Given the description of an element on the screen output the (x, y) to click on. 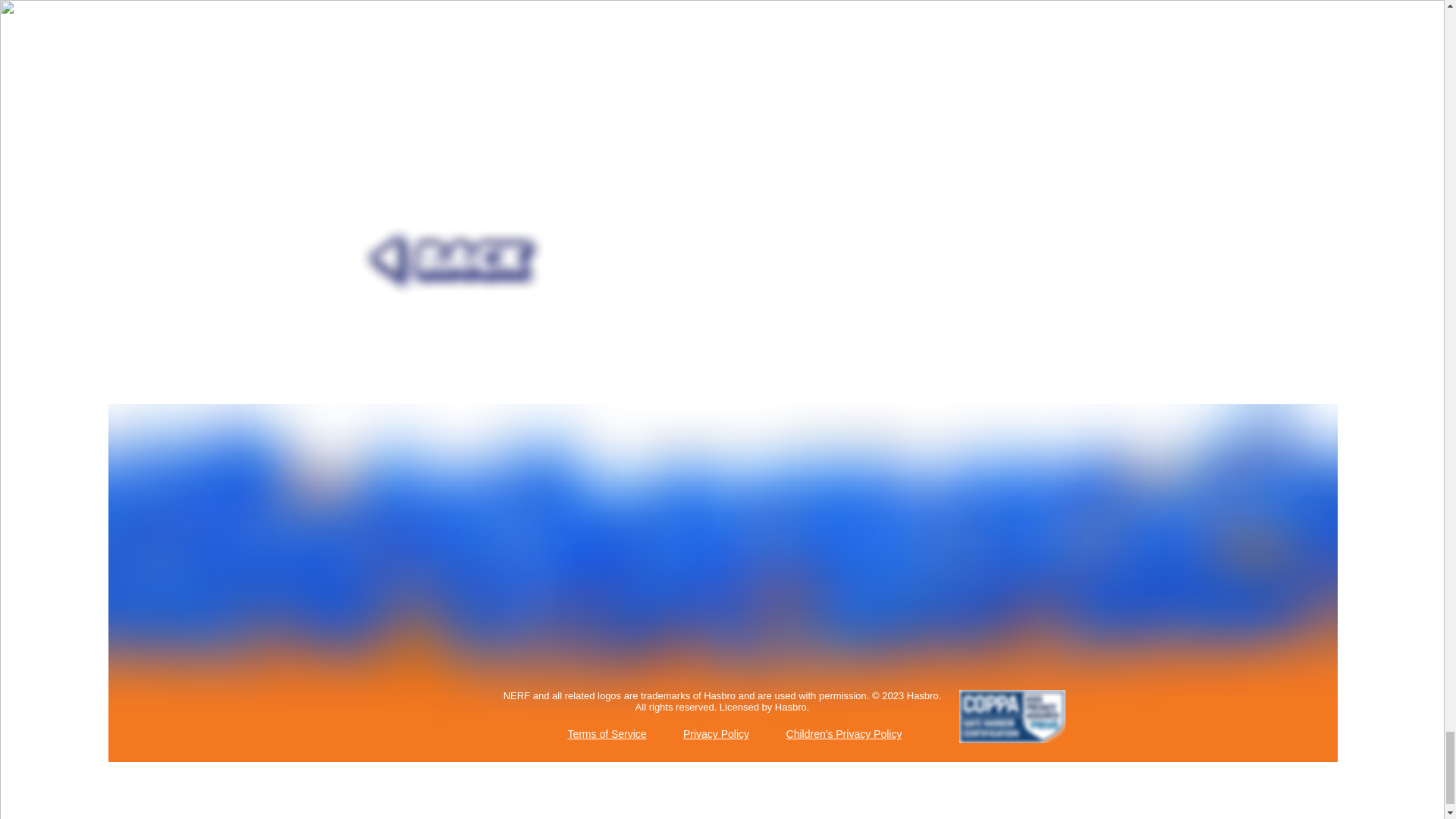
Children's Privacy Policy (844, 734)
Privacy Policy (717, 734)
Terms of Service (608, 734)
